Given the description of an element on the screen output the (x, y) to click on. 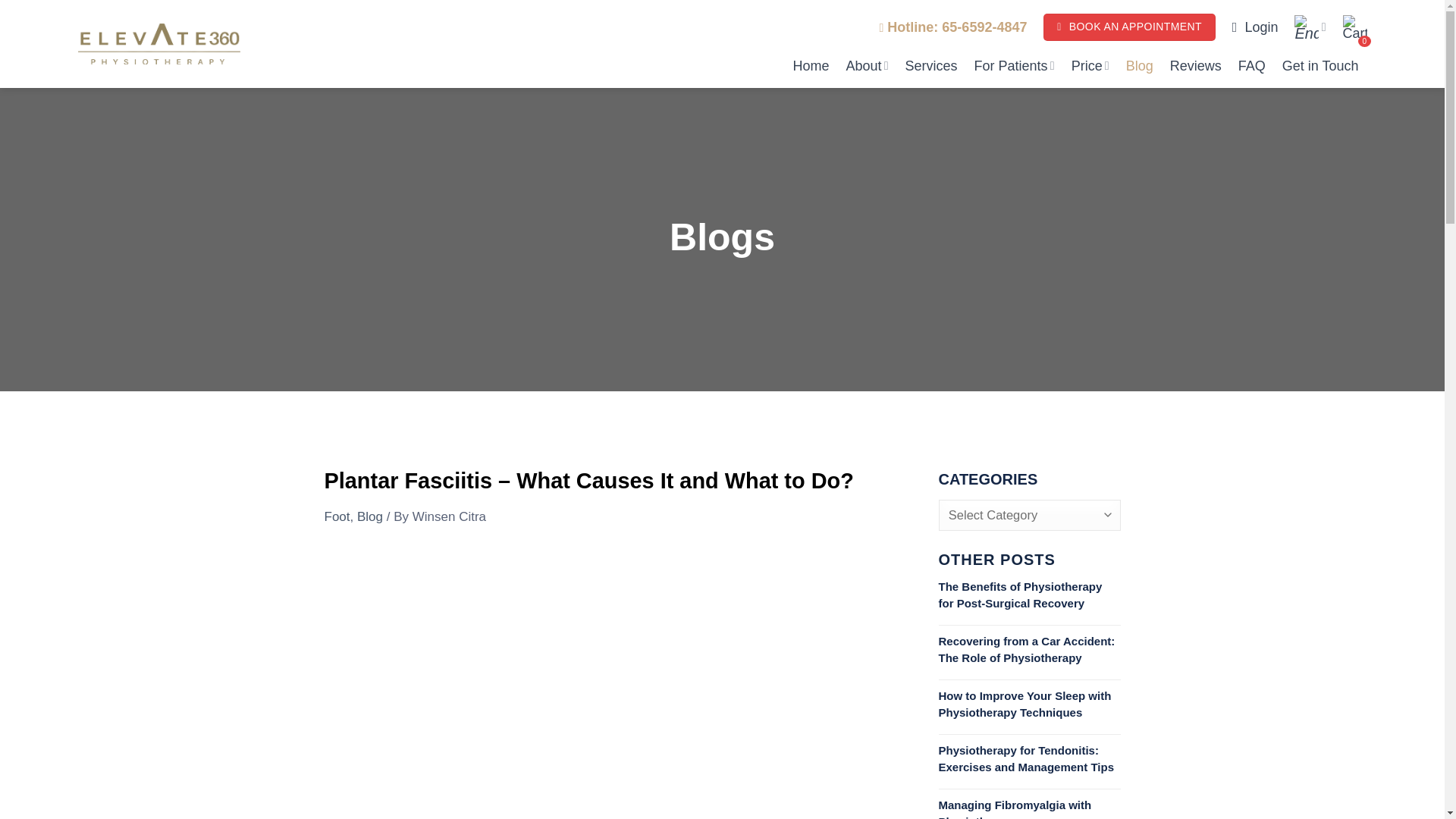
BOOK AN APPOINTMENT (1128, 26)
Elevate Physiotherapy (158, 43)
For Patients (1014, 65)
Blog (1139, 65)
Reviews (1195, 65)
Foot (337, 516)
FAQ (1252, 65)
About (866, 65)
Services (931, 65)
Blog (369, 516)
